Given the description of an element on the screen output the (x, y) to click on. 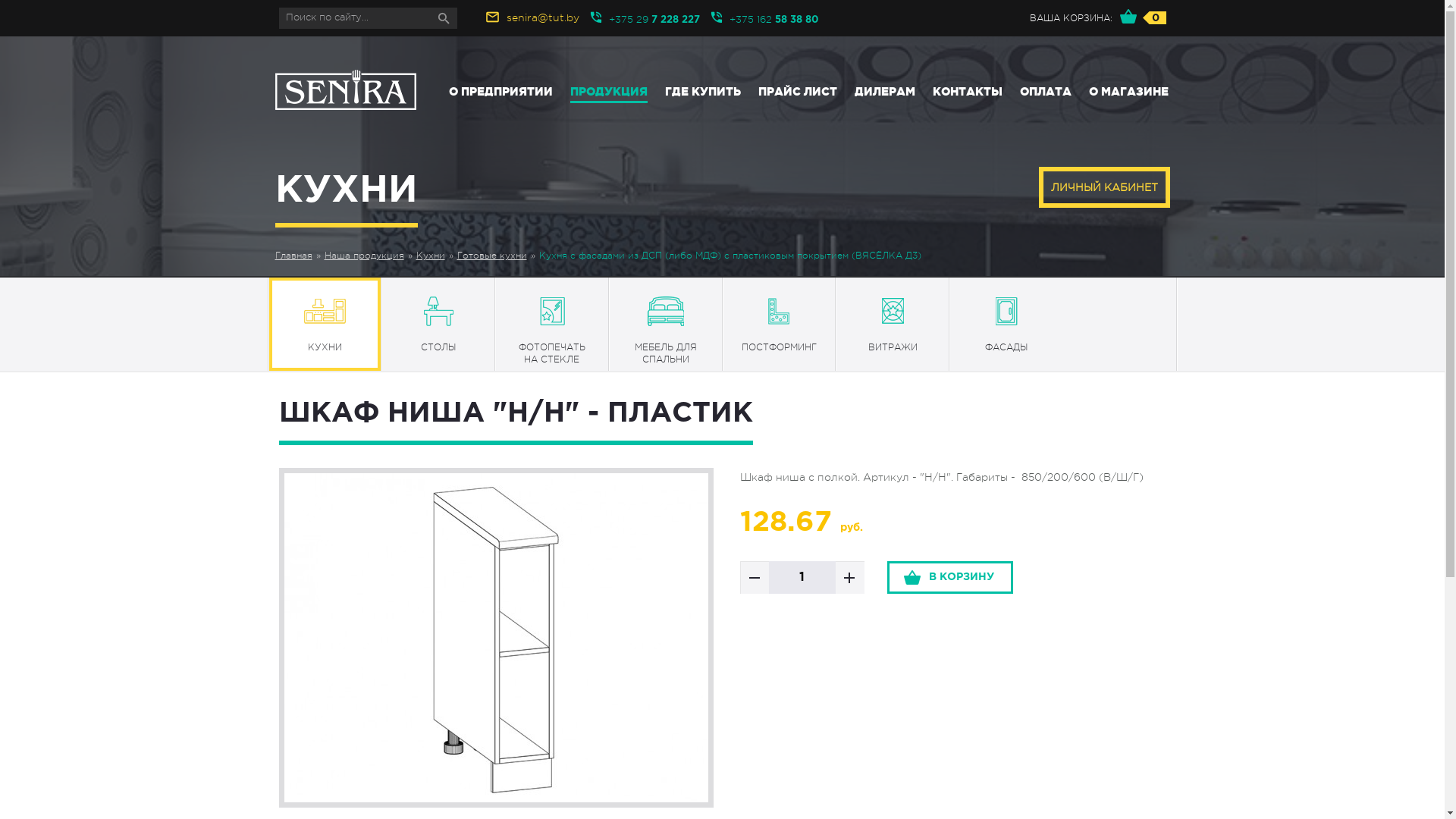
senira@tut.by Element type: text (542, 17)
